Given the description of an element on the screen output the (x, y) to click on. 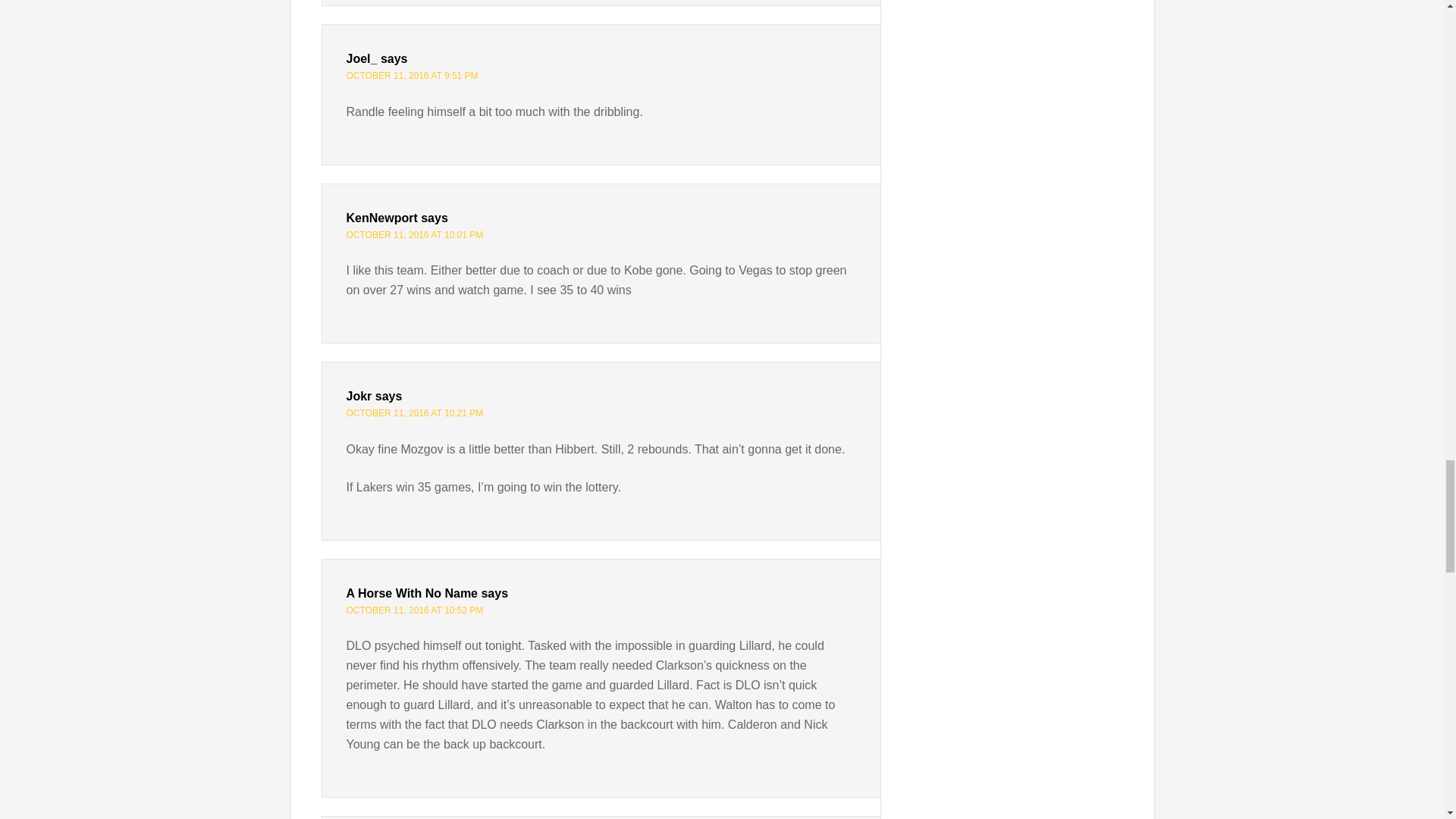
OCTOBER 11, 2016 AT 10:21 PM (414, 412)
OCTOBER 11, 2016 AT 10:52 PM (414, 610)
OCTOBER 11, 2016 AT 9:51 PM (411, 75)
OCTOBER 11, 2016 AT 10:01 PM (414, 235)
